Given the description of an element on the screen output the (x, y) to click on. 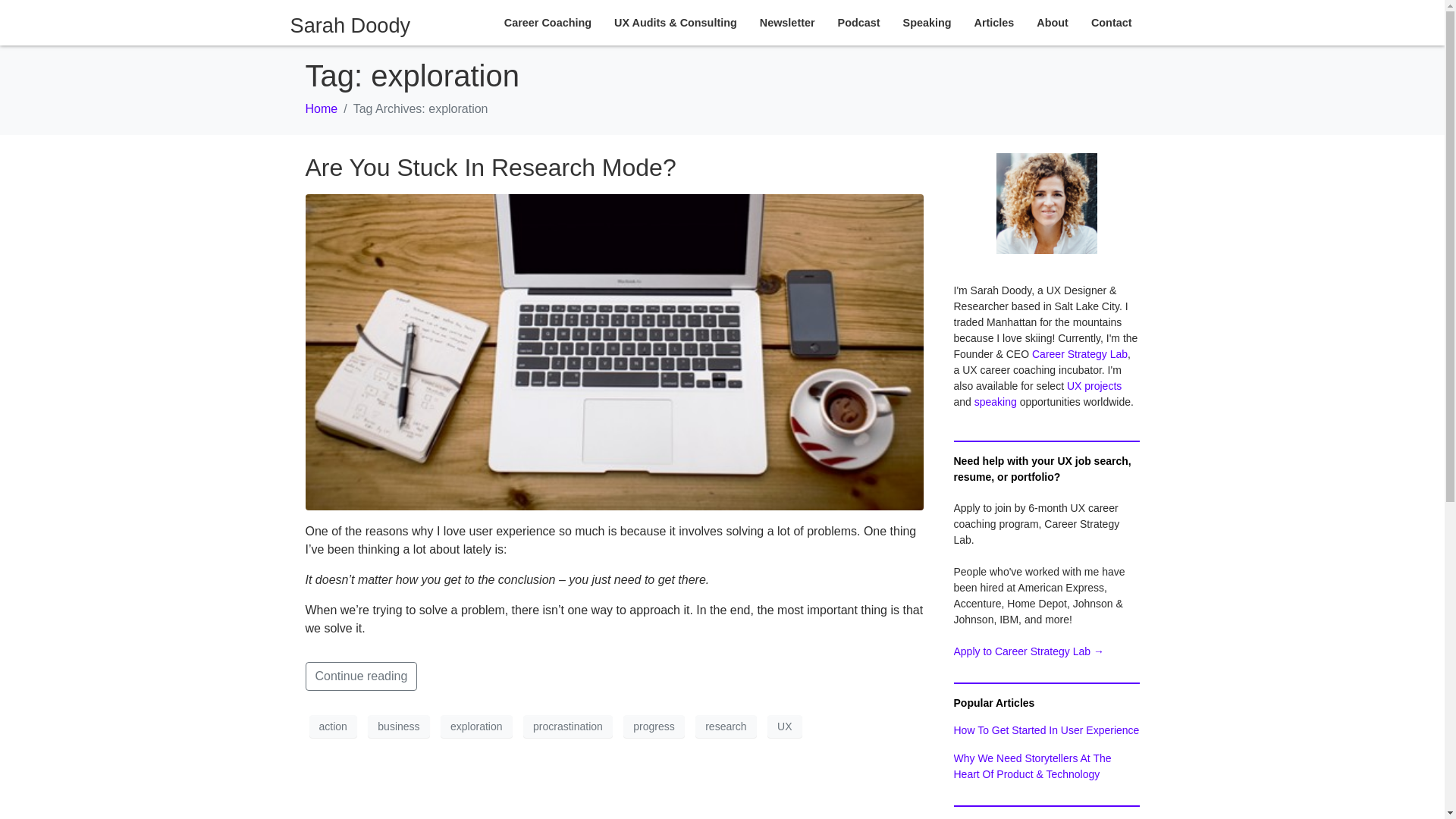
Continue reading (360, 676)
Are You Stuck In Research Mode? (489, 166)
action (332, 725)
business (398, 725)
Home (320, 108)
Are You Stuck In Research Mode? (613, 350)
Contact (1111, 22)
Sarah Doody (349, 24)
Newsletter (786, 22)
Articles (994, 22)
